Given the description of an element on the screen output the (x, y) to click on. 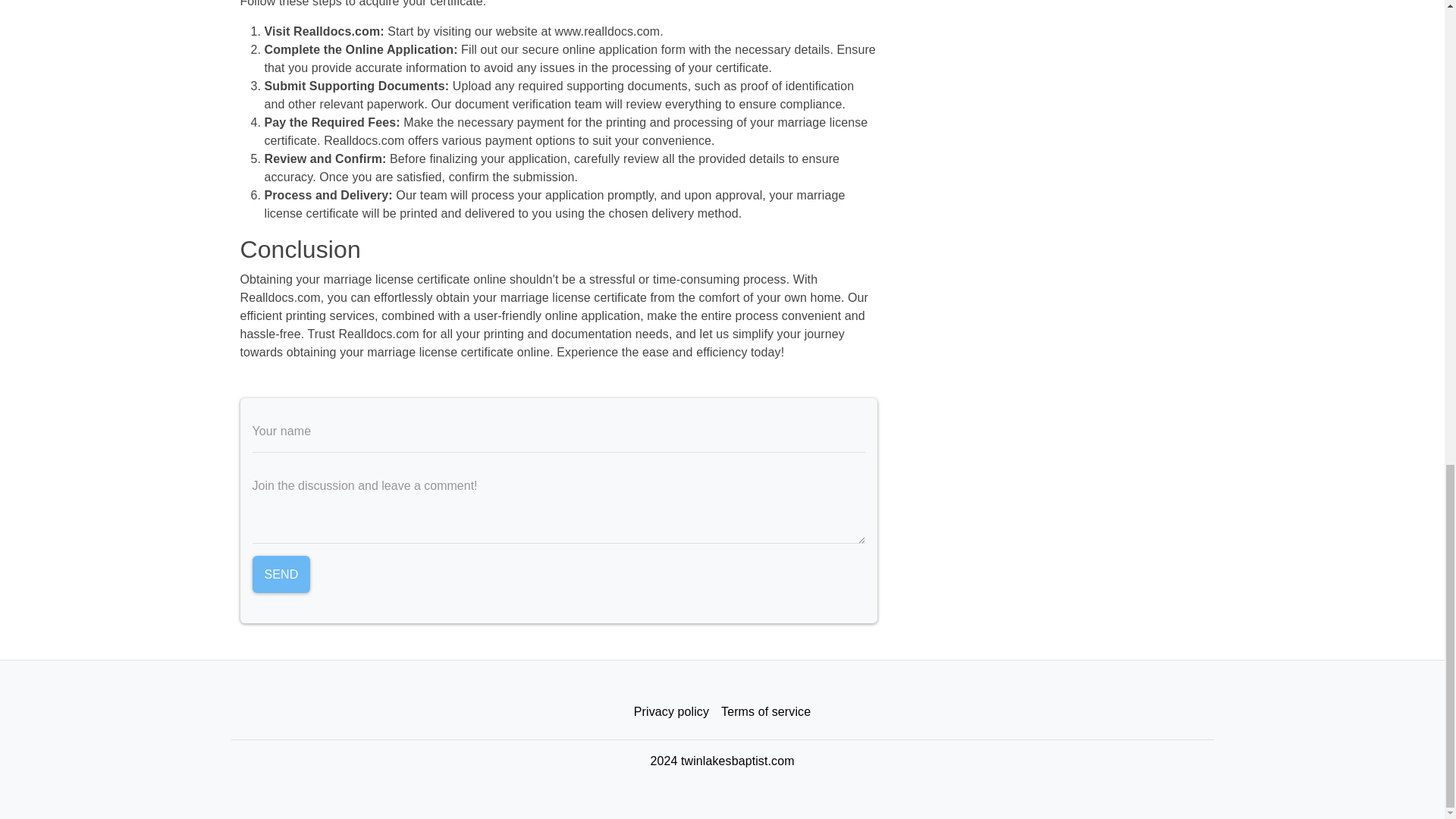
Send (280, 574)
Send (280, 574)
Terms of service (765, 711)
Privacy policy (670, 711)
